Given the description of an element on the screen output the (x, y) to click on. 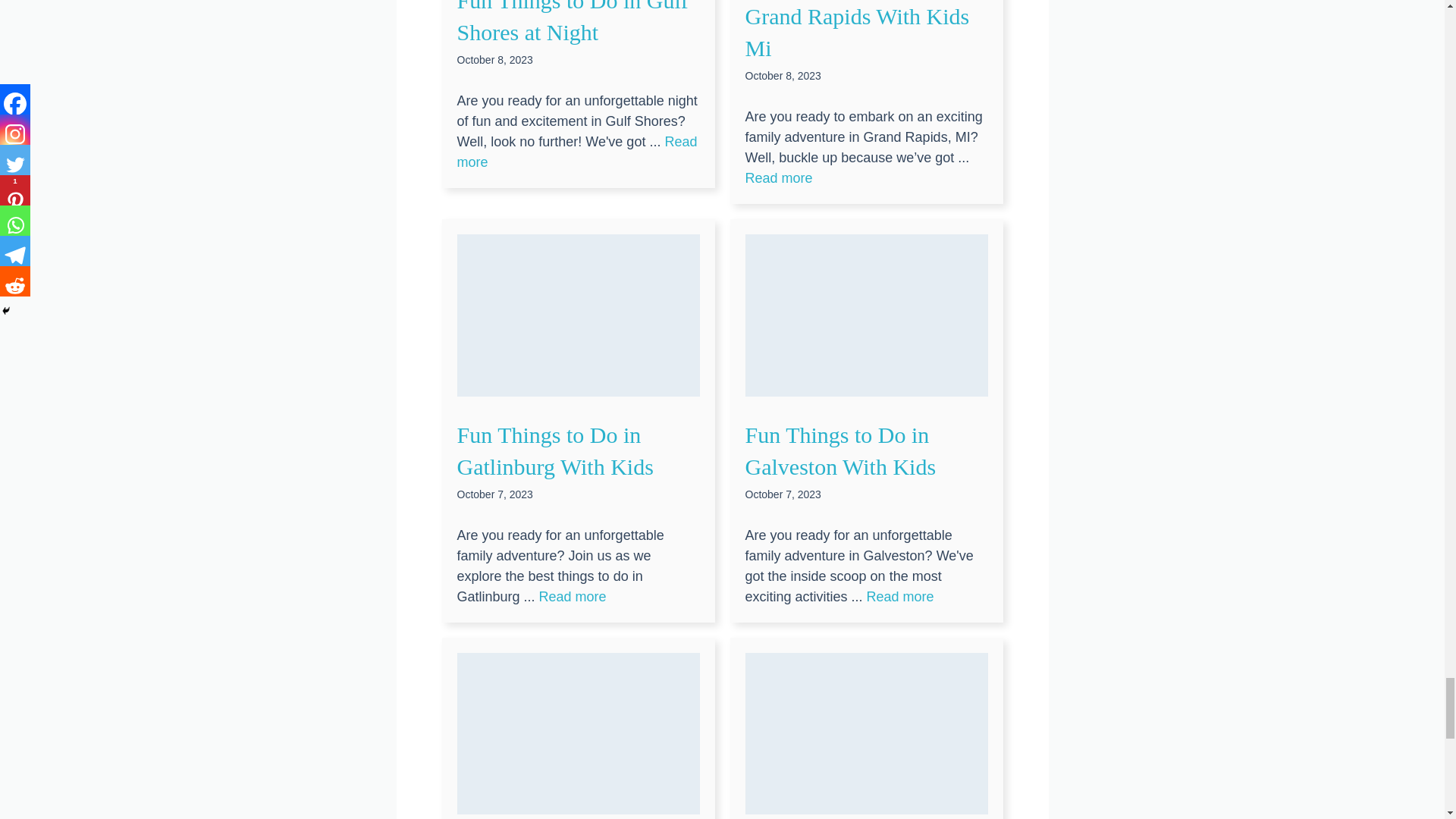
Fun Things to Do in Gulf Shores at Night (577, 151)
Fun Things to Do in Galveston With Kids (900, 596)
Fun Things to Do in Grand Rapids With Kids Mi (778, 177)
Fun Things to Do in Gatlinburg With Kids (572, 596)
